Given the description of an element on the screen output the (x, y) to click on. 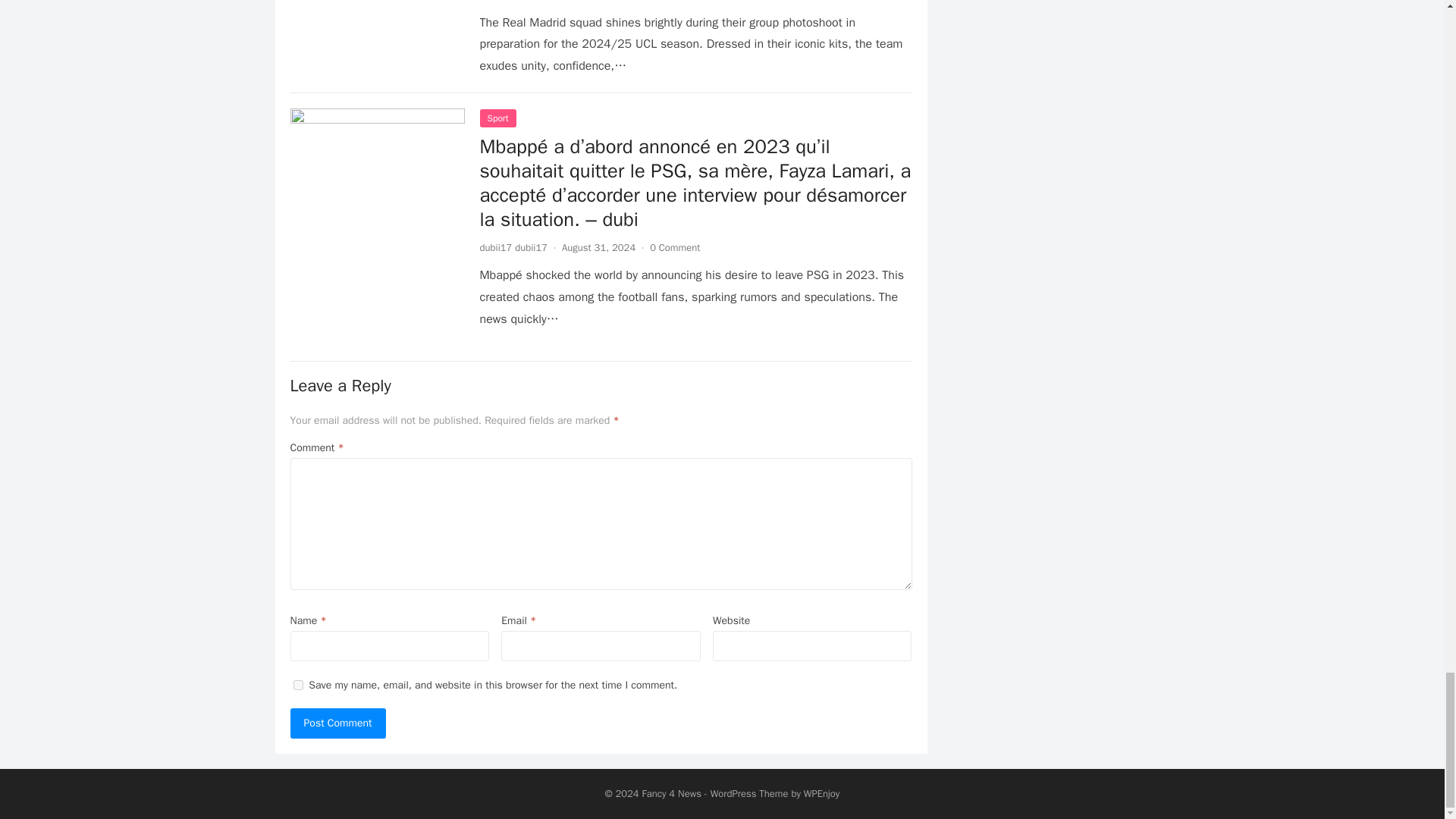
Post Comment (337, 723)
Posts by dubii17 dubii17 (513, 0)
Posts by dubii17 dubii17 (513, 246)
yes (297, 685)
